Given the description of an element on the screen output the (x, y) to click on. 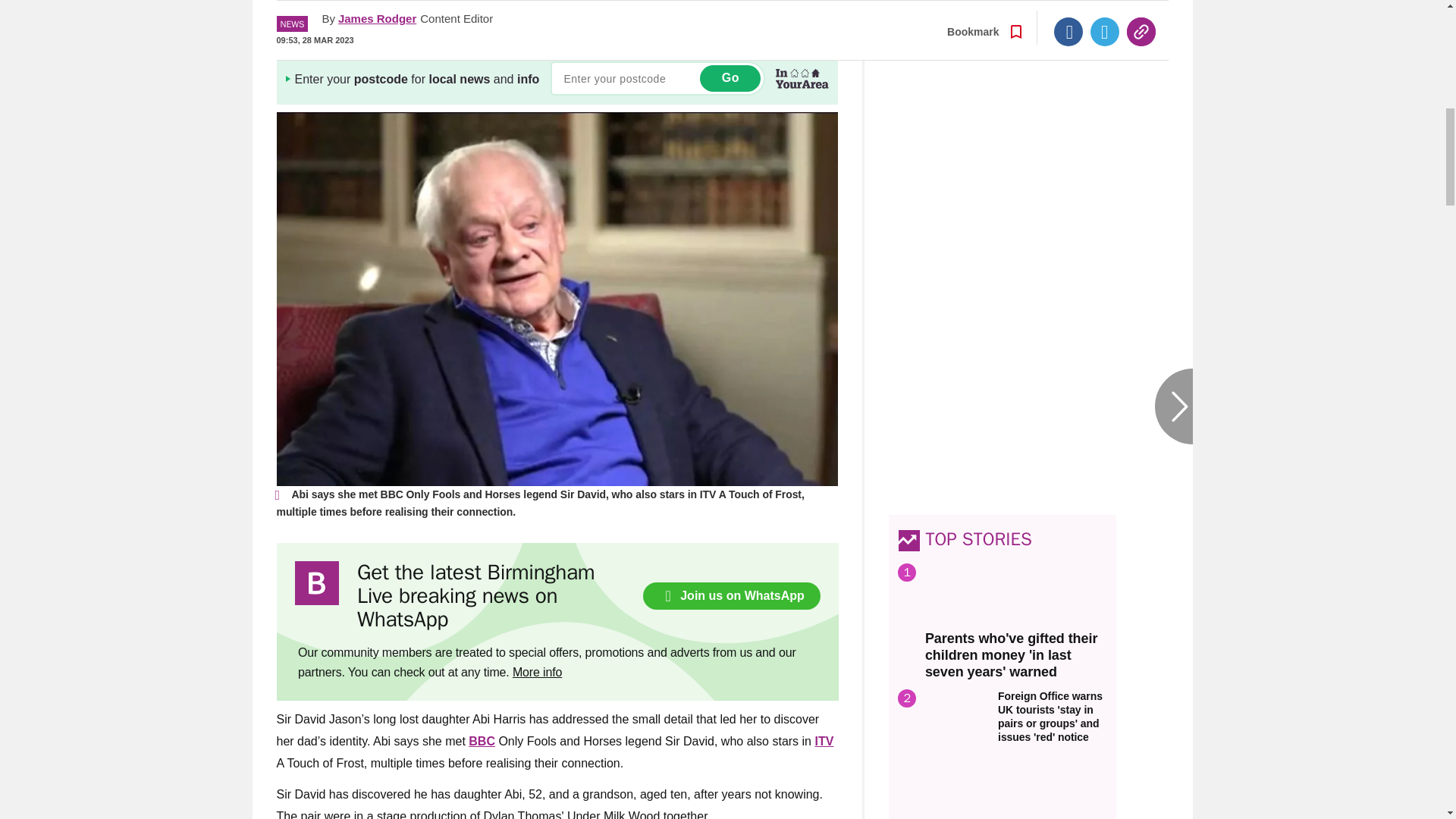
Facebook (1068, 10)
Go (730, 78)
Twitter (1104, 10)
